Given the description of an element on the screen output the (x, y) to click on. 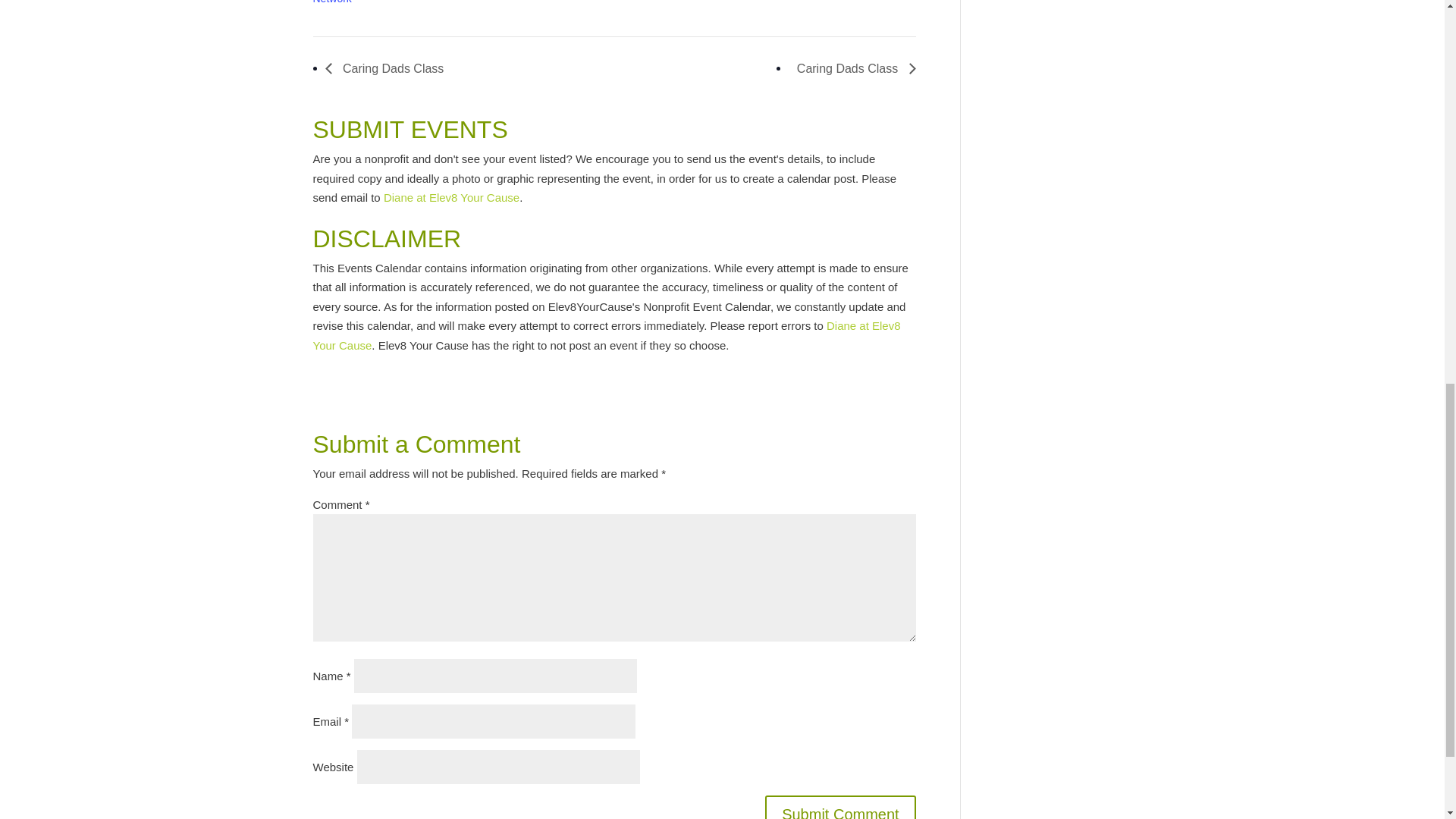
Diane at Elev8 Your Cause (606, 335)
Submit Comment (840, 807)
Diane at Elev8 Your Cause (451, 196)
Grand County Rural Health Network (376, 2)
Caring Dads Class (852, 68)
Caring Dads Class (387, 68)
Submit Comment (840, 807)
